Given the description of an element on the screen output the (x, y) to click on. 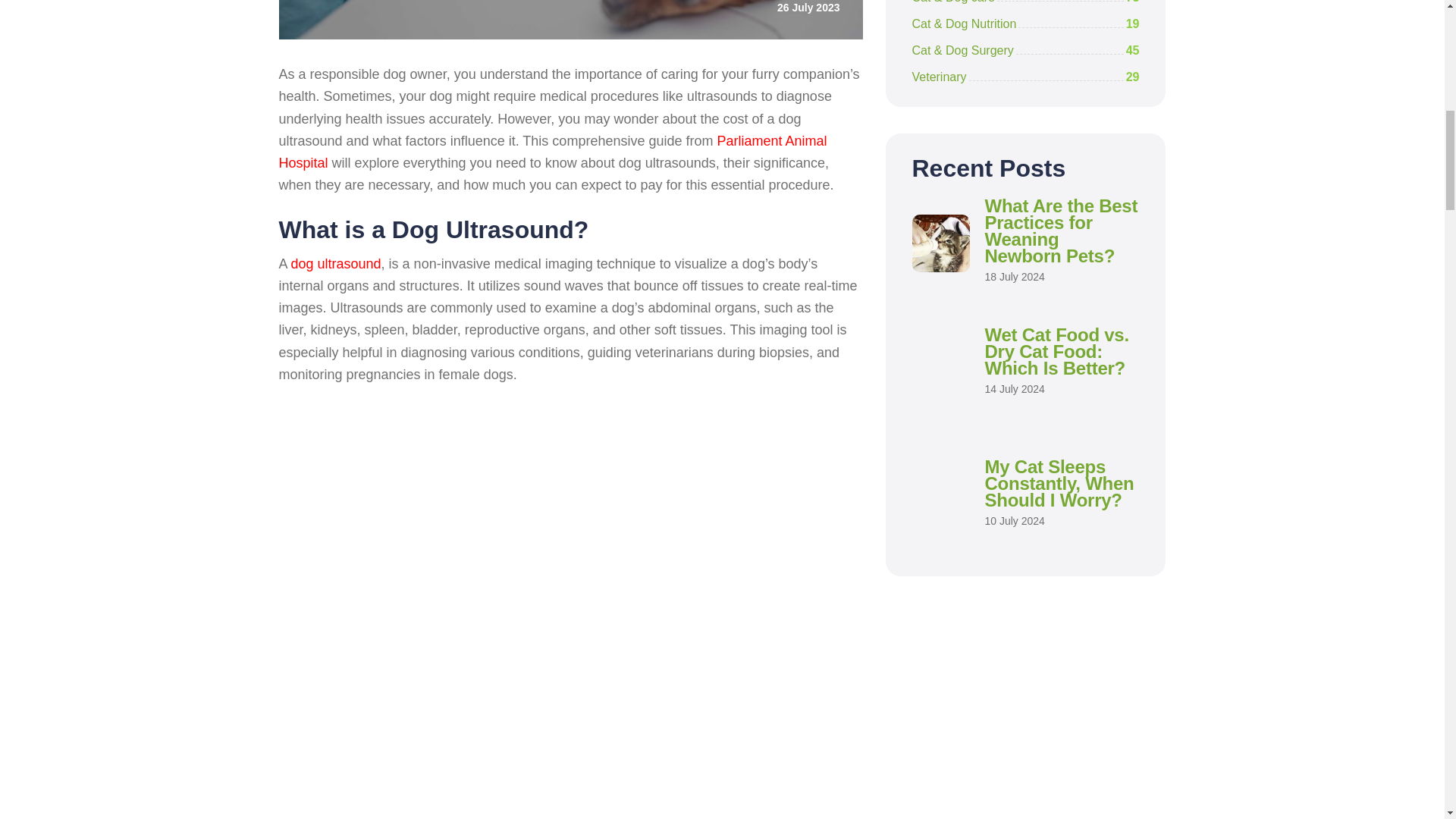
What Are the Best Practices for Weaning Newborn Pets? (1060, 230)
My Cat Sleeps Constantly, When Should I Worry? (1059, 483)
Wet Cat Food vs. Dry Cat Food: Which Is Better? (1056, 351)
